Given the description of an element on the screen output the (x, y) to click on. 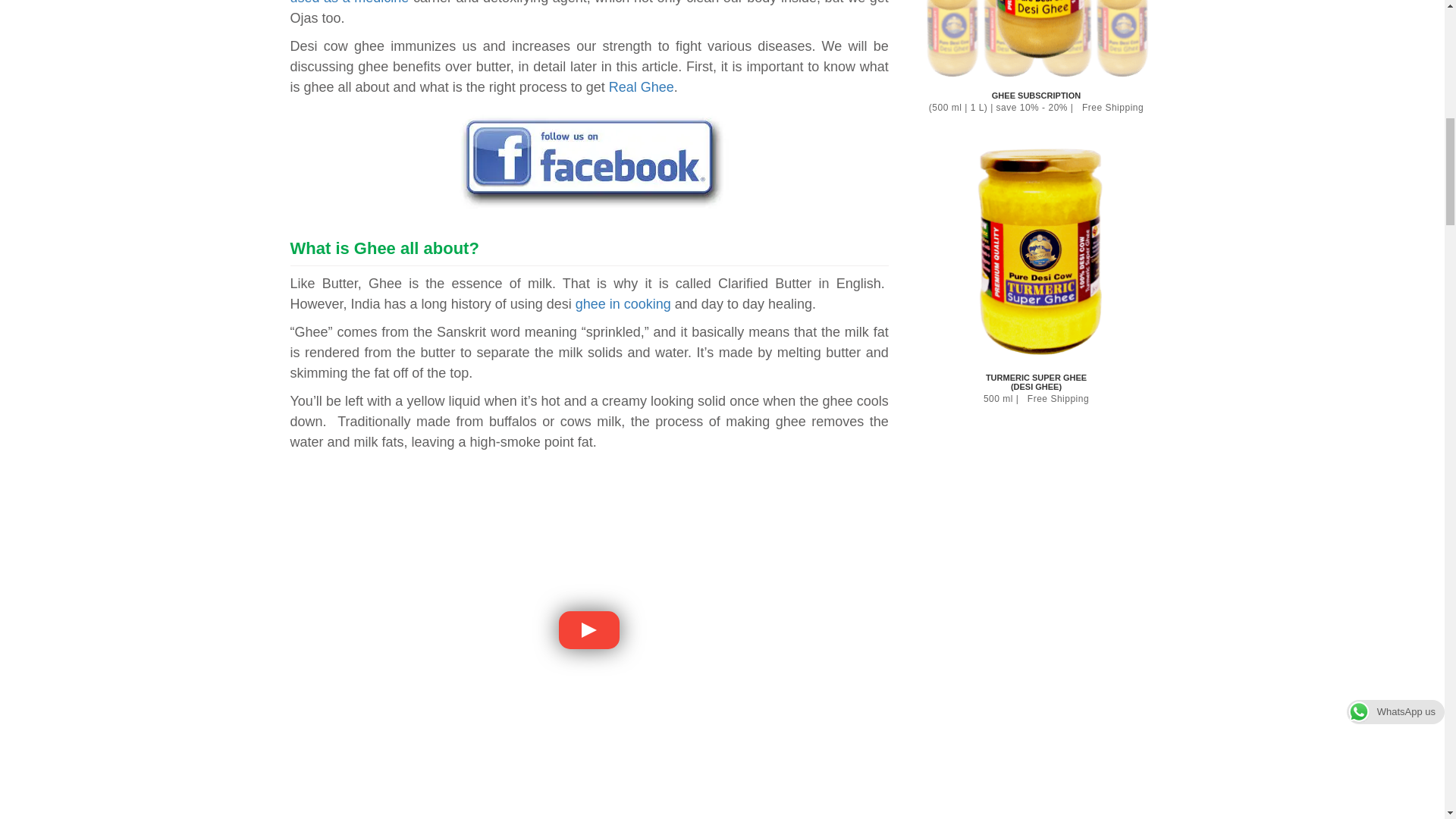
Pure Desi Cow Milk Ghee Subscription (1036, 41)
ghee in cooking (623, 304)
Turmeric Super Ghee (1036, 250)
Real Ghee (641, 87)
